Given the description of an element on the screen output the (x, y) to click on. 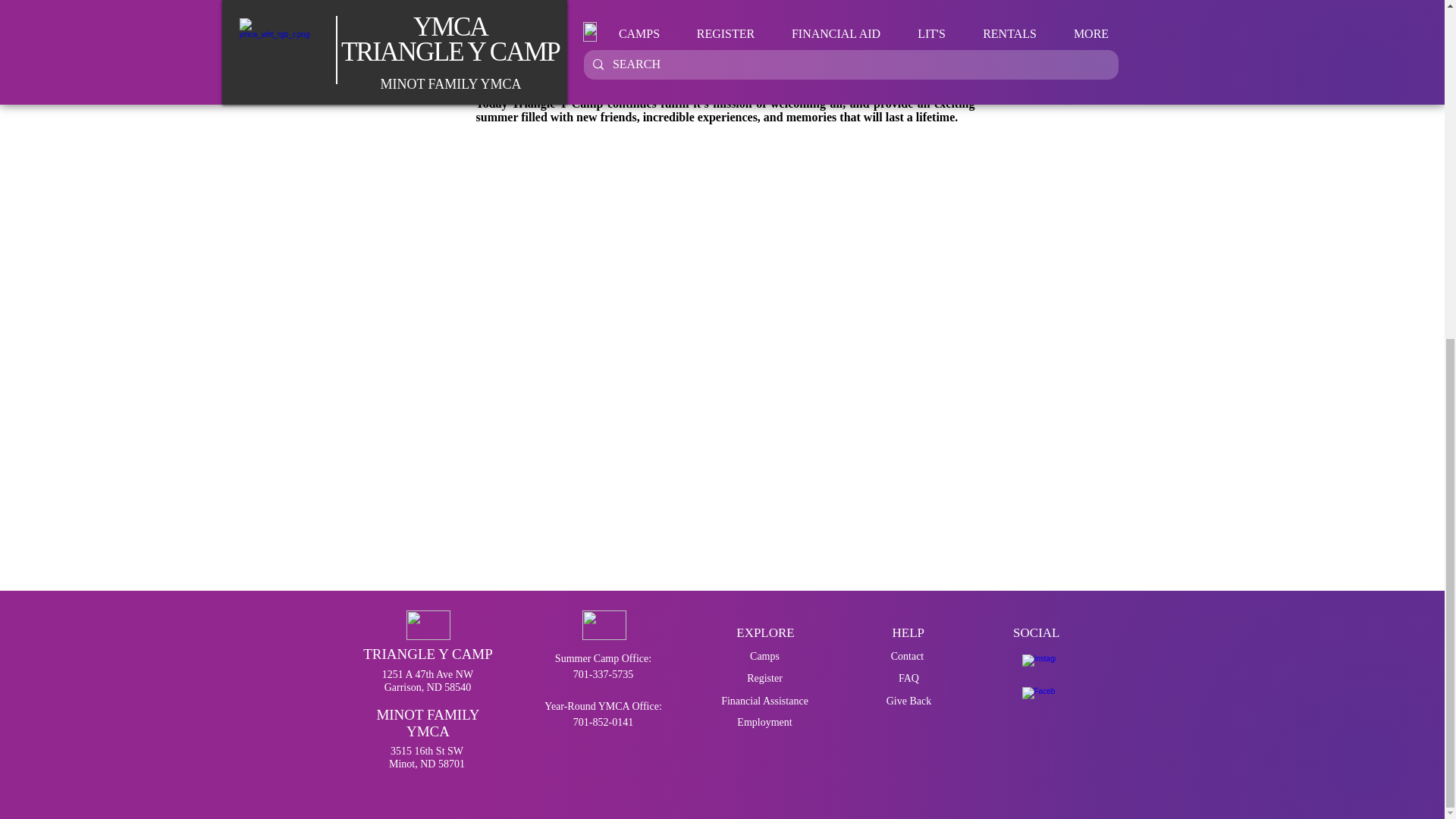
Financial Assistance (764, 700)
Employment (764, 722)
MINOT FAMILY YMCA (427, 722)
Give Back (909, 700)
Camps (764, 656)
FAQ (909, 678)
Contact (906, 656)
Register (764, 678)
